Given the description of an element on the screen output the (x, y) to click on. 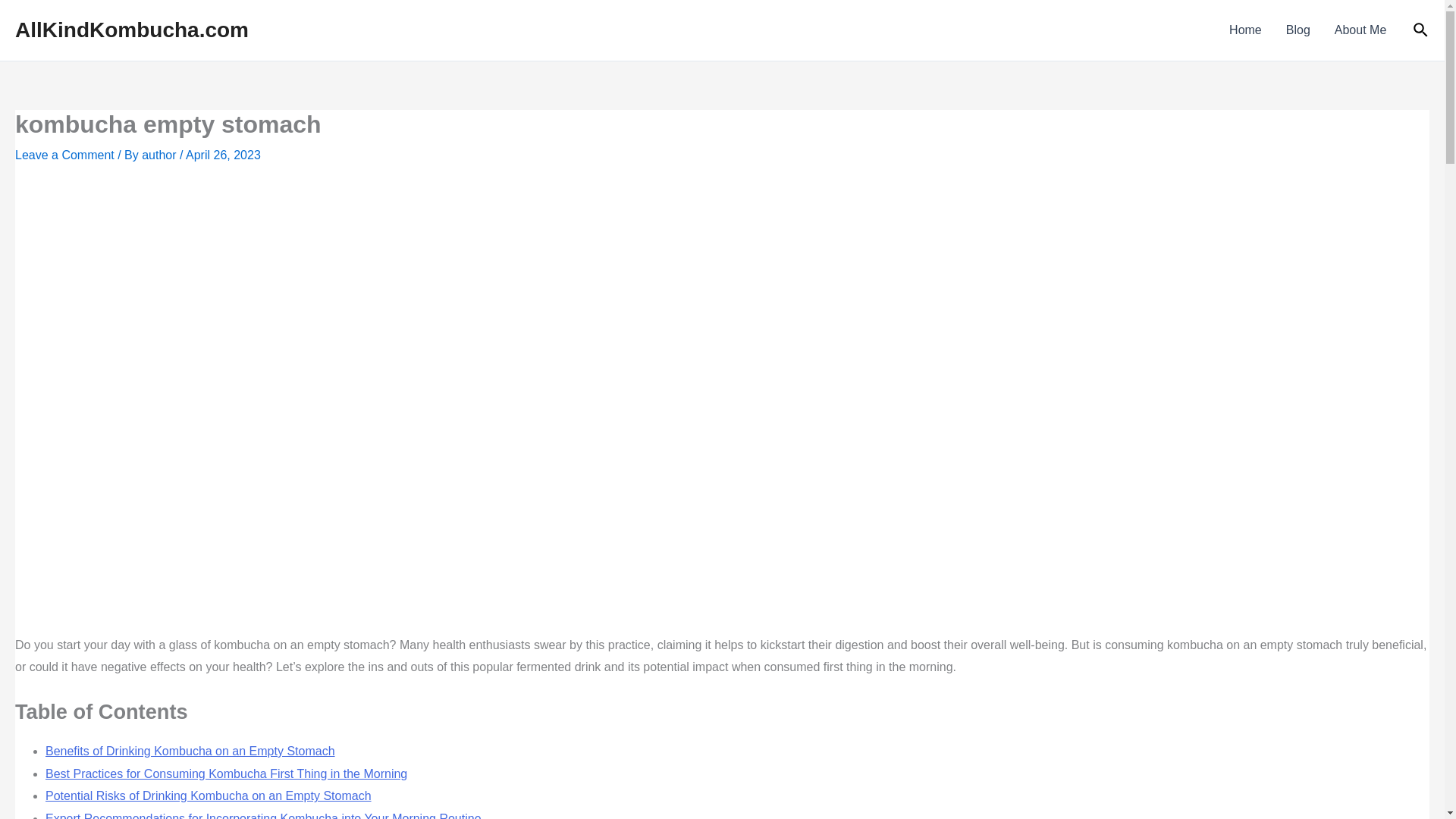
author (160, 154)
Leave a Comment (64, 154)
AllKindKombucha.com (131, 29)
View all posts by author (160, 154)
About Me (1359, 30)
Home (1245, 30)
